Given the description of an element on the screen output the (x, y) to click on. 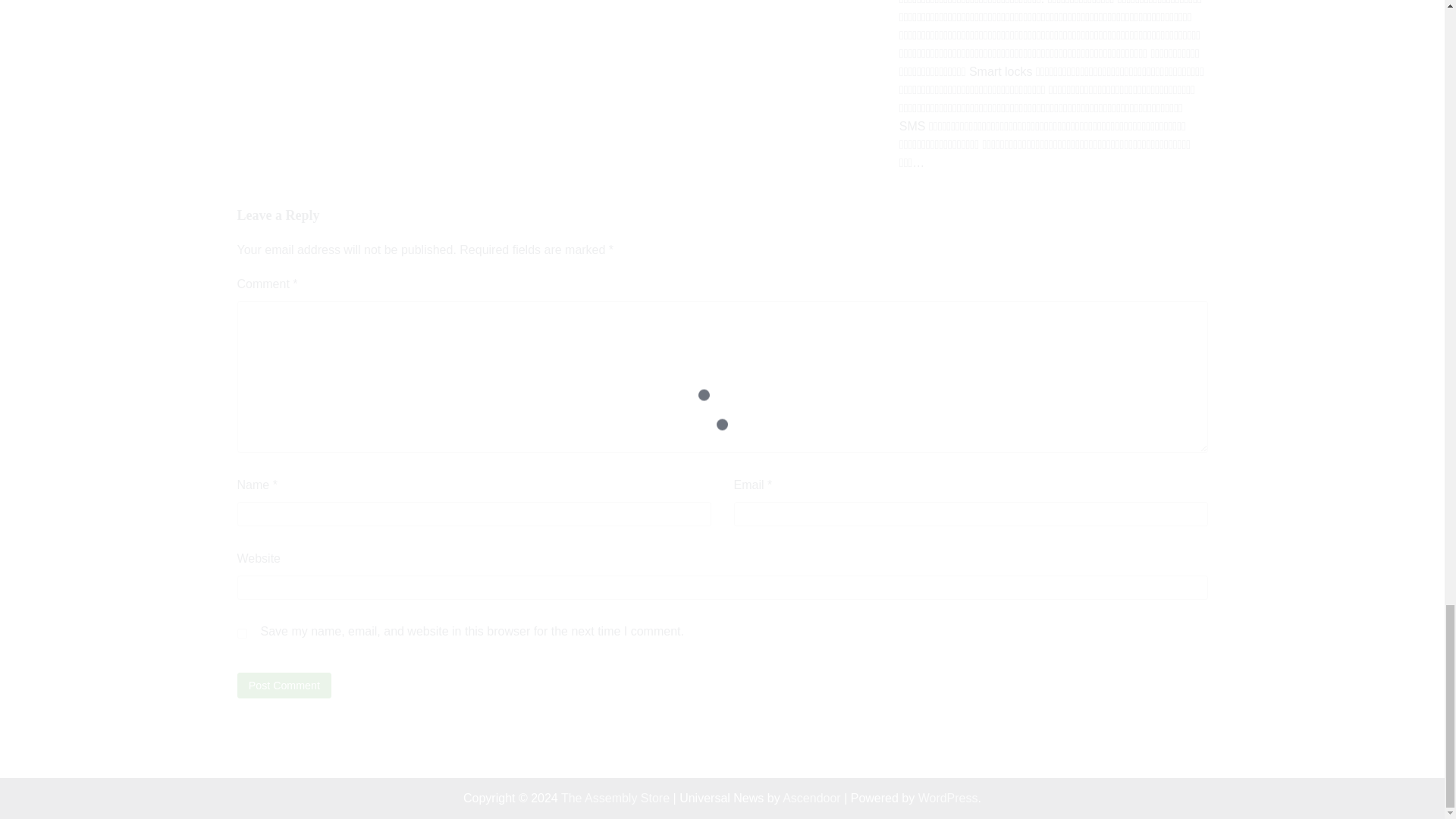
Ascendoor (812, 797)
yes (240, 633)
Post Comment (283, 684)
The Assembly Store (614, 797)
WordPress (948, 797)
Post Comment (283, 684)
